Given the description of an element on the screen output the (x, y) to click on. 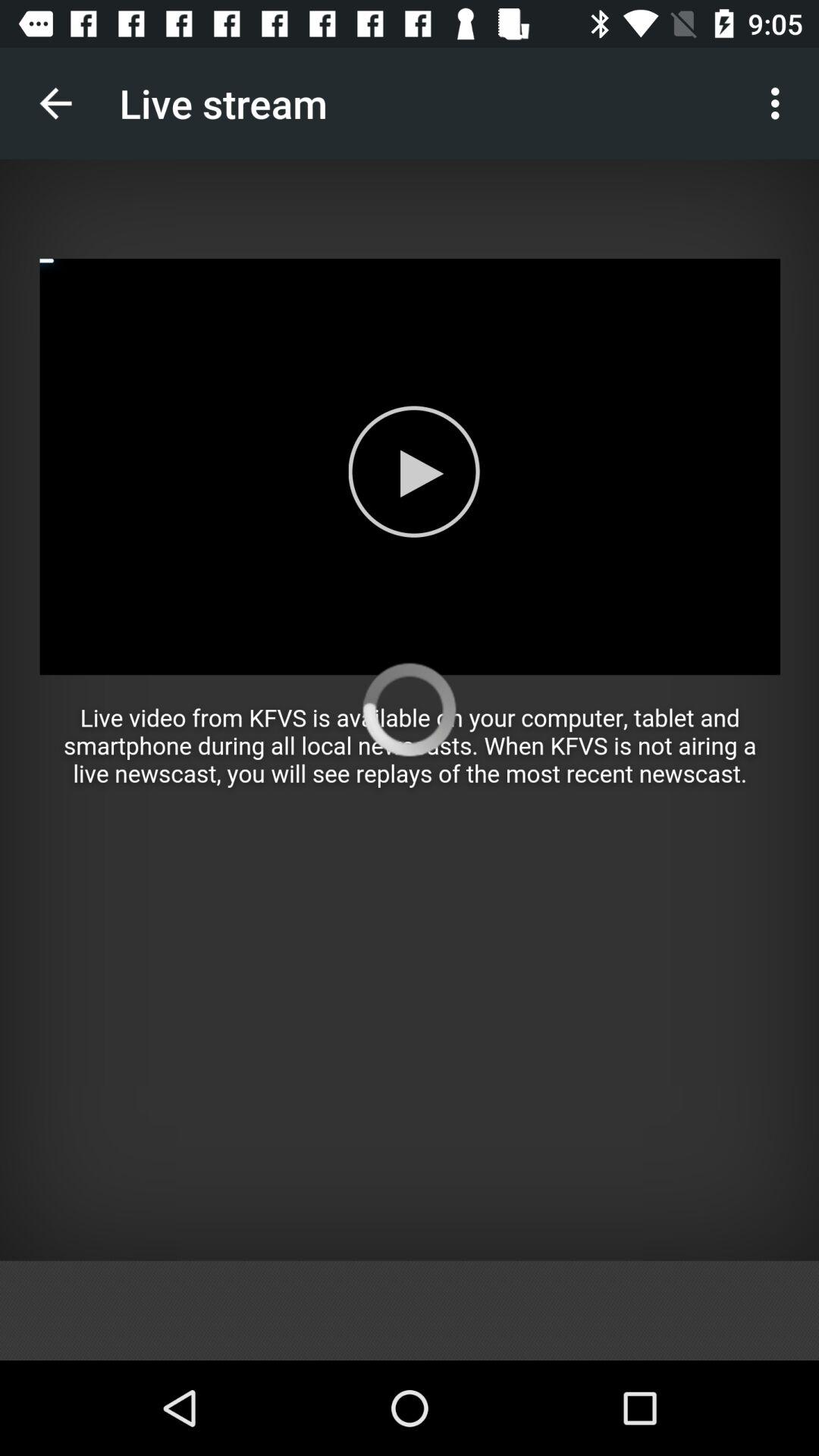
view field (409, 709)
